Given the description of an element on the screen output the (x, y) to click on. 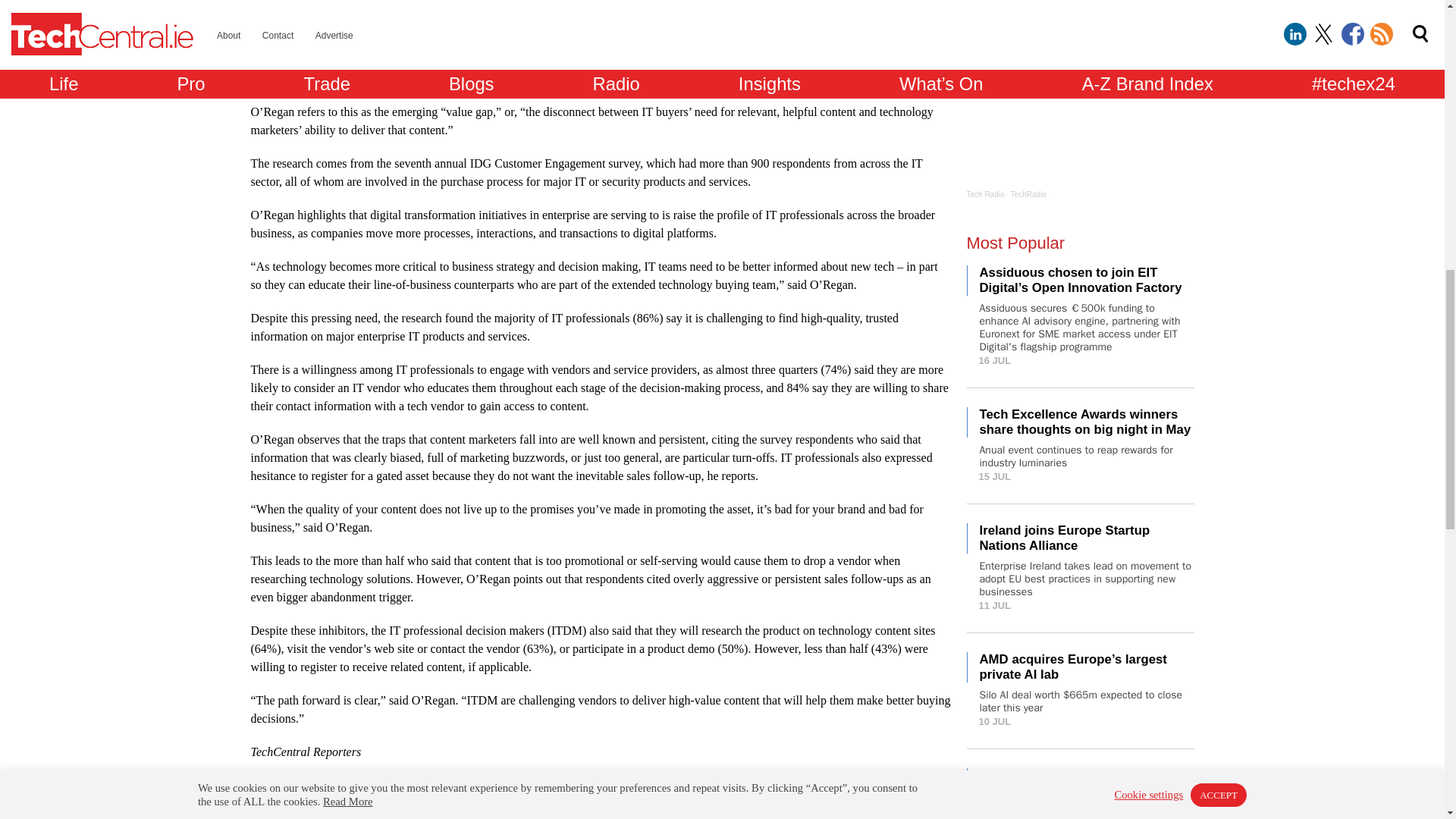
TechRadio (1028, 194)
Tech Radio (985, 194)
